Given the description of an element on the screen output the (x, y) to click on. 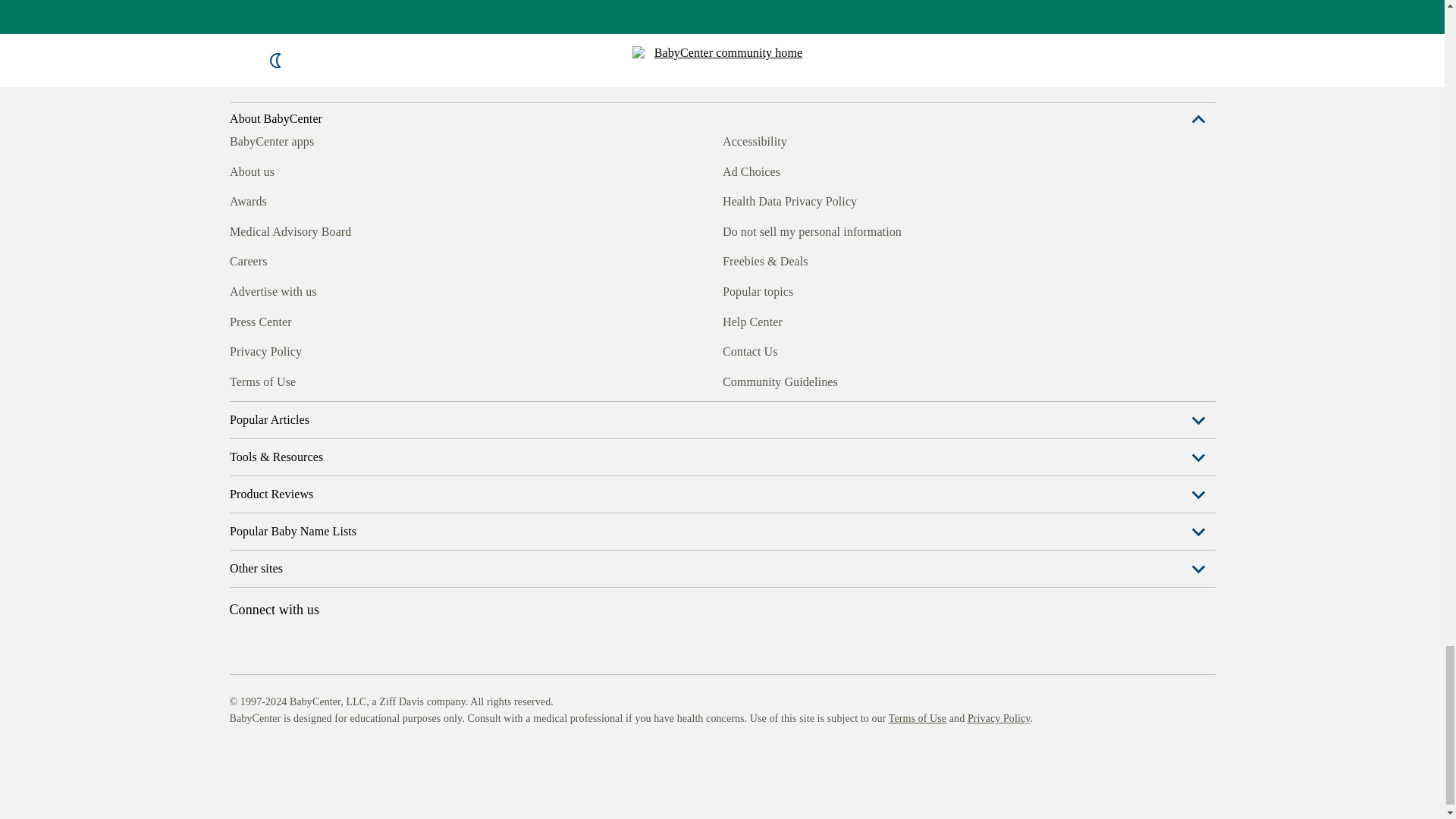
BabyCenter YouTube channel (344, 590)
BabyCenter Pinterest board (309, 590)
BabyCenter Instagram feed (274, 590)
BabyCenter Twitter feed (379, 590)
BabyCenter Facebook page (239, 590)
